Given the description of an element on the screen output the (x, y) to click on. 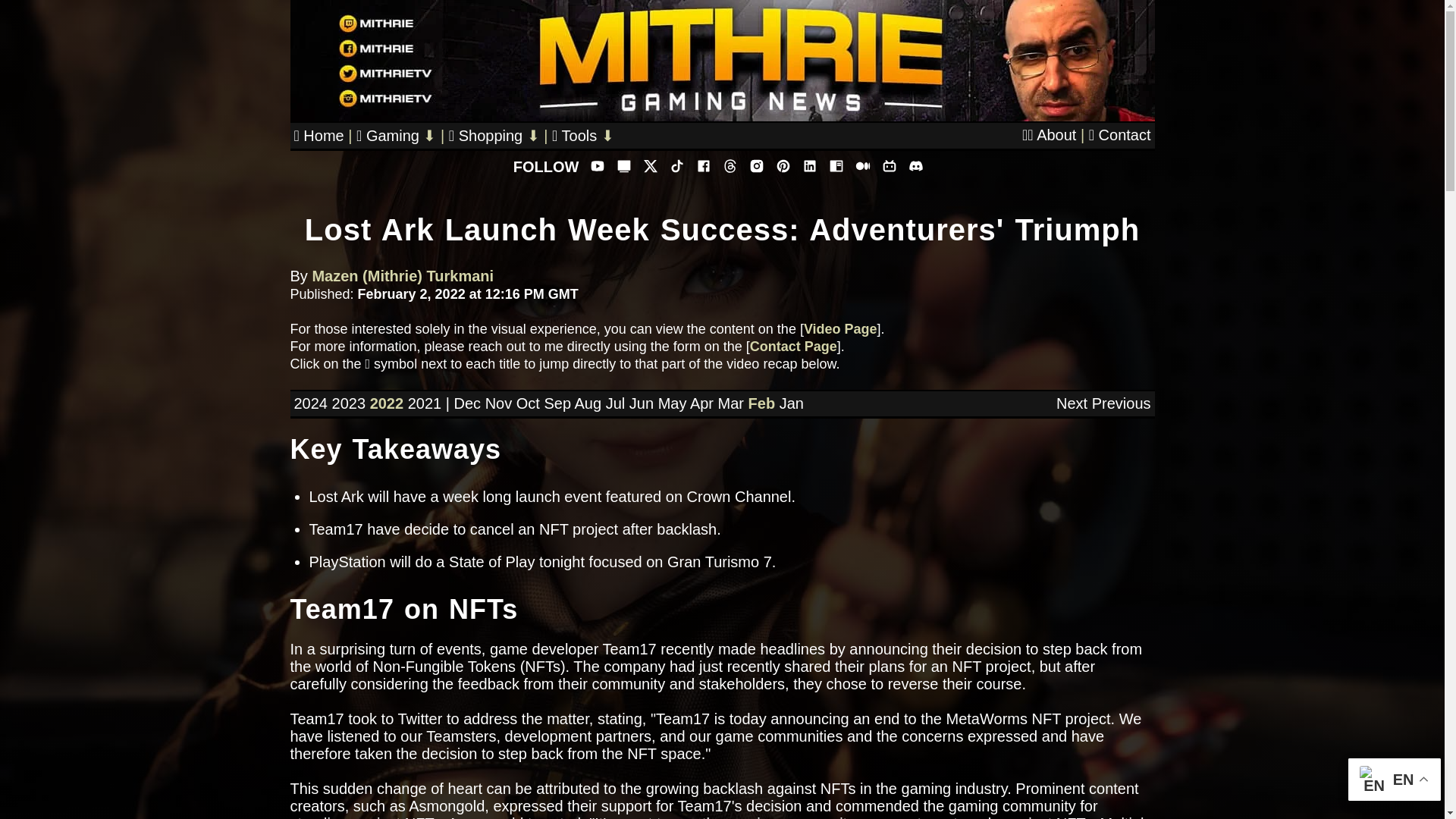
Contact Page (793, 346)
Dec (466, 402)
2021 (424, 402)
2024 (311, 402)
2023 (348, 402)
Video Page (840, 328)
